Given the description of an element on the screen output the (x, y) to click on. 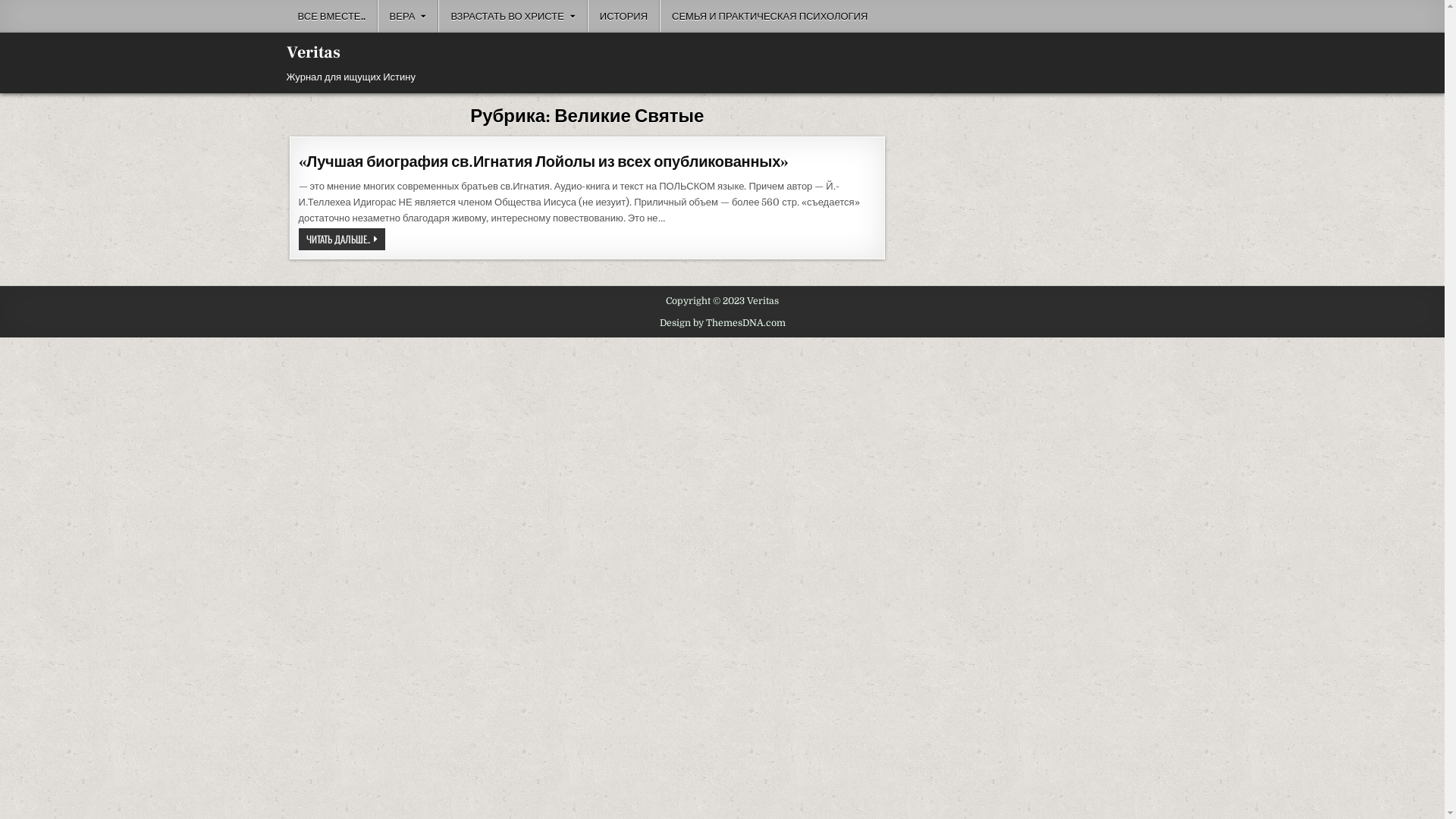
Veritas Element type: text (313, 51)
Design by ThemesDNA.com Element type: text (722, 322)
